Given the description of an element on the screen output the (x, y) to click on. 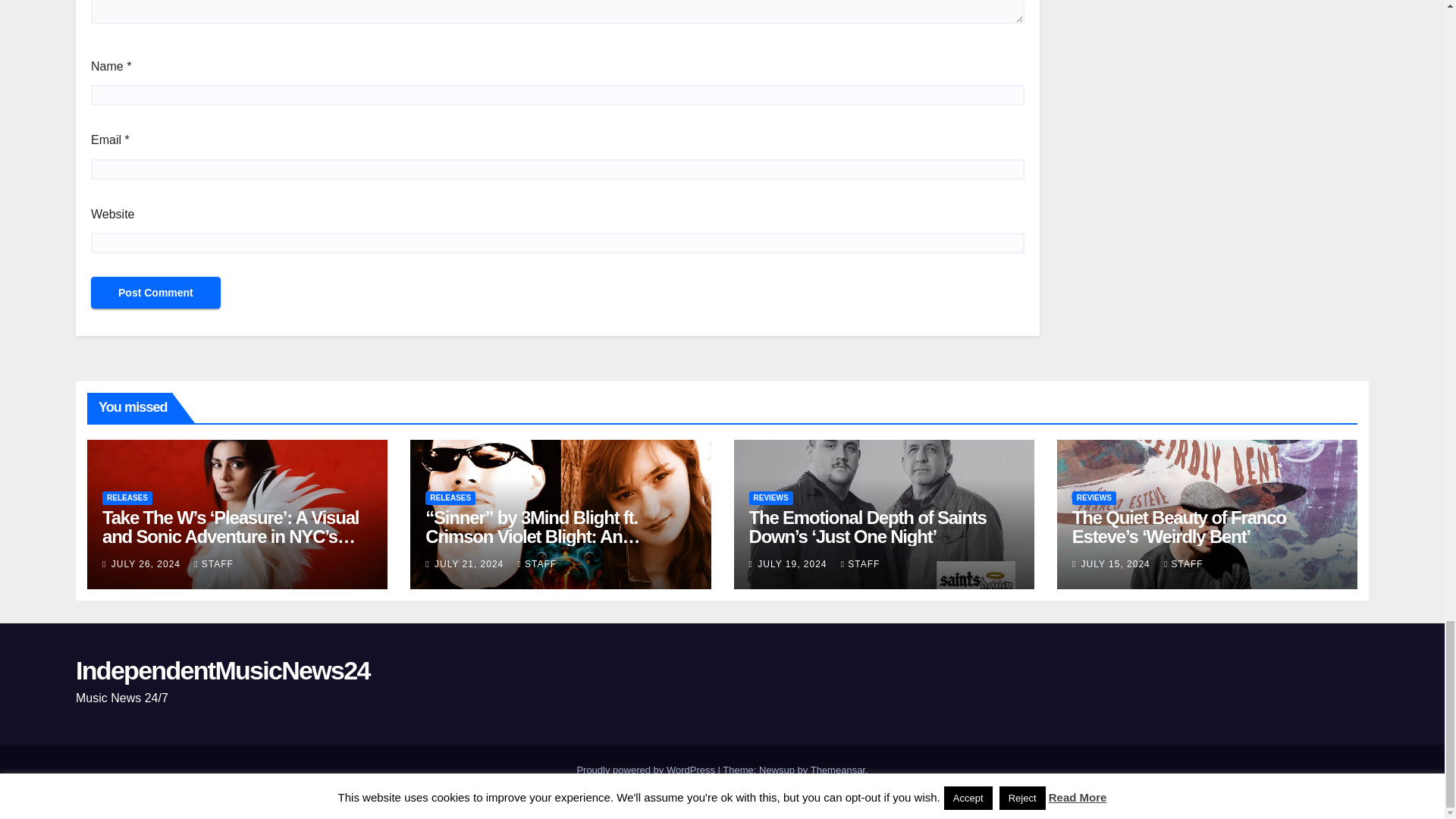
Post Comment (155, 292)
